Given the description of an element on the screen output the (x, y) to click on. 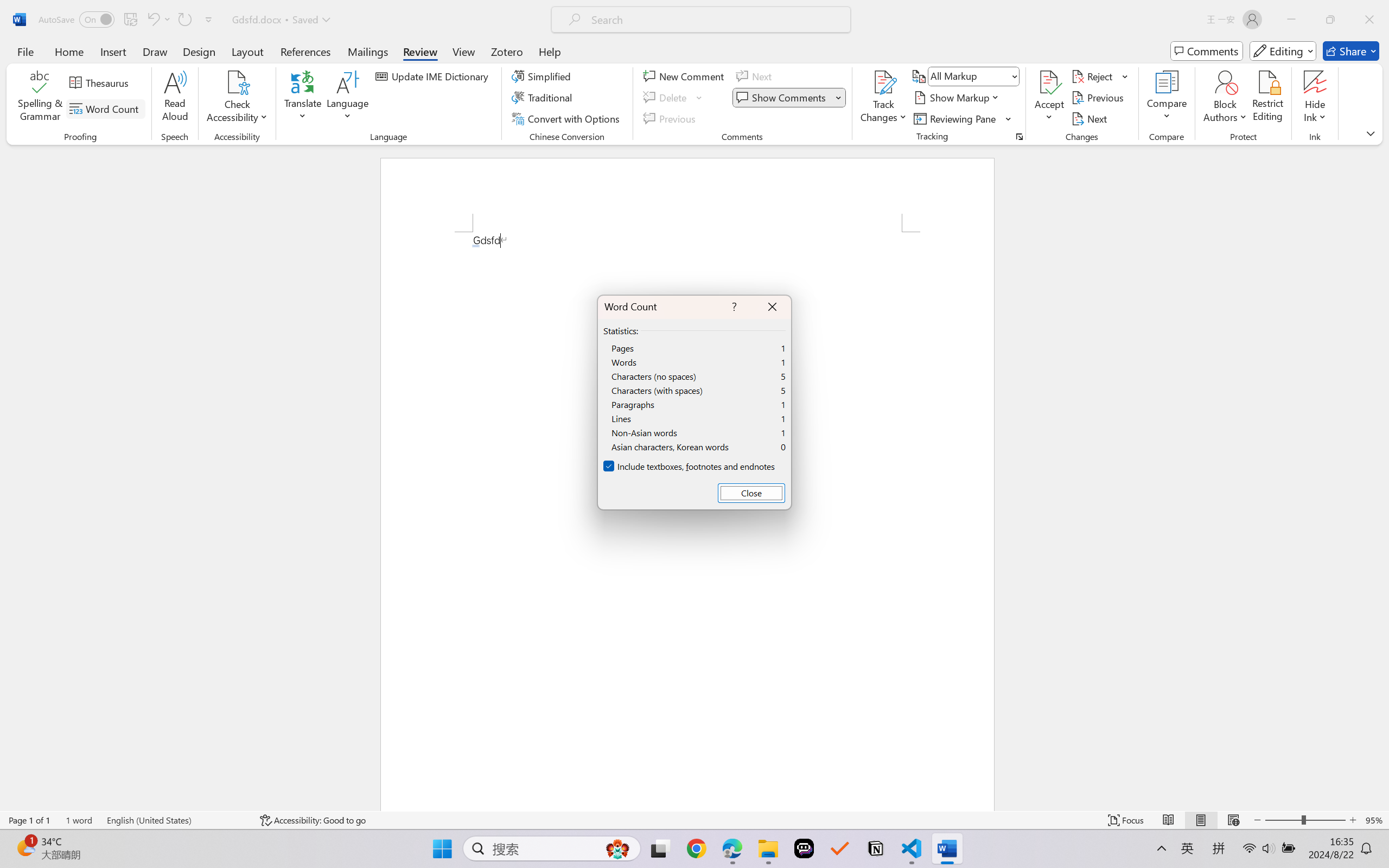
Show Comments (788, 97)
Include textboxes, footnotes and endnotes (689, 466)
Change Tracking Options... (1019, 136)
Block Authors (1224, 81)
Spelling & Grammar (39, 97)
Check Accessibility (237, 81)
Reviewing Pane (955, 118)
